Given the description of an element on the screen output the (x, y) to click on. 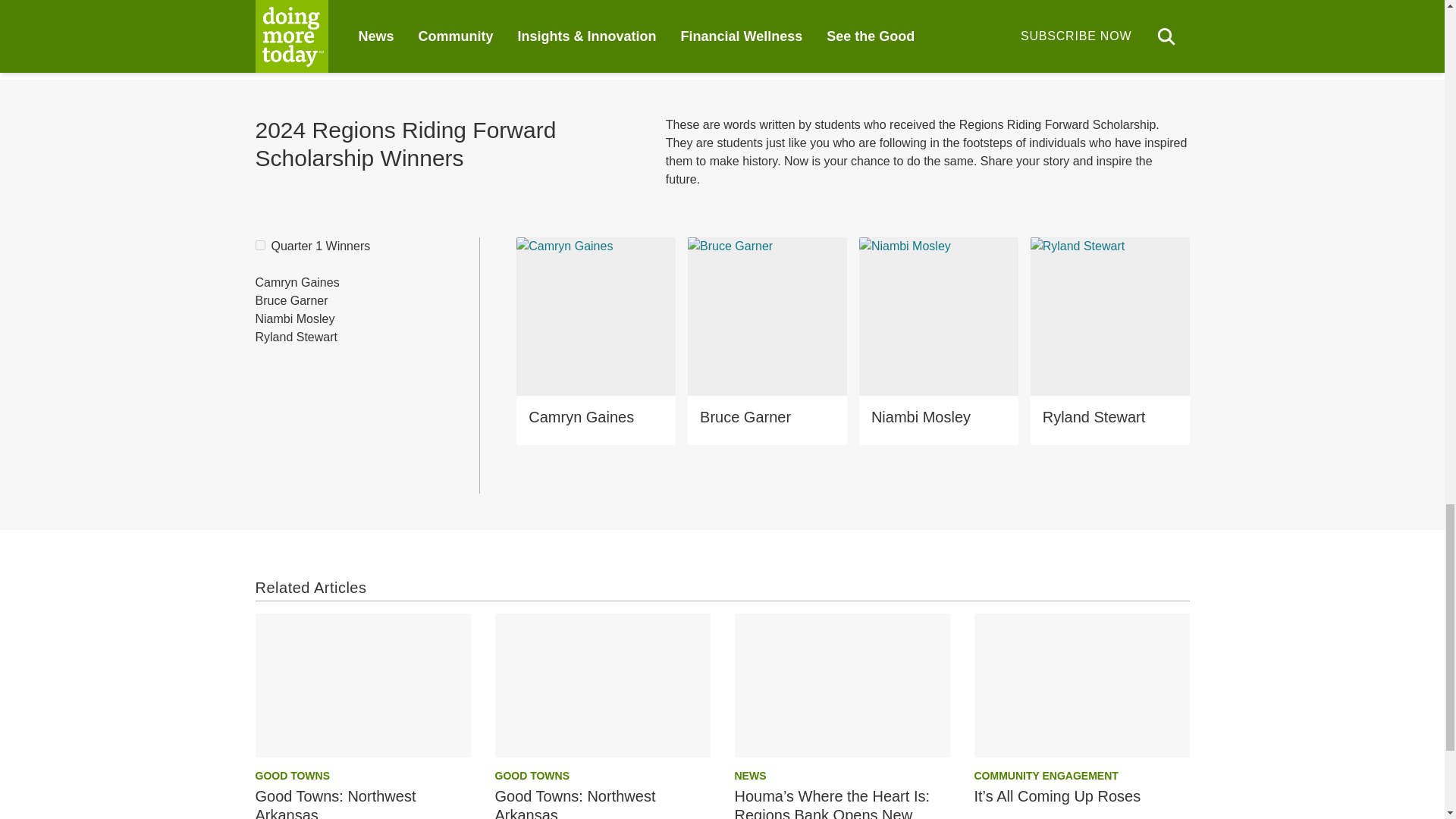
Good Towns: Northwest Arkansas (362, 684)
Camryn Gaines (296, 282)
How to Enter (724, 18)
Good Towns: Northwest Arkansas (602, 684)
quarter-1 (259, 245)
Niambi Mosley (294, 318)
Bruce Garner (290, 300)
Ryland Stewart (295, 336)
